Given the description of an element on the screen output the (x, y) to click on. 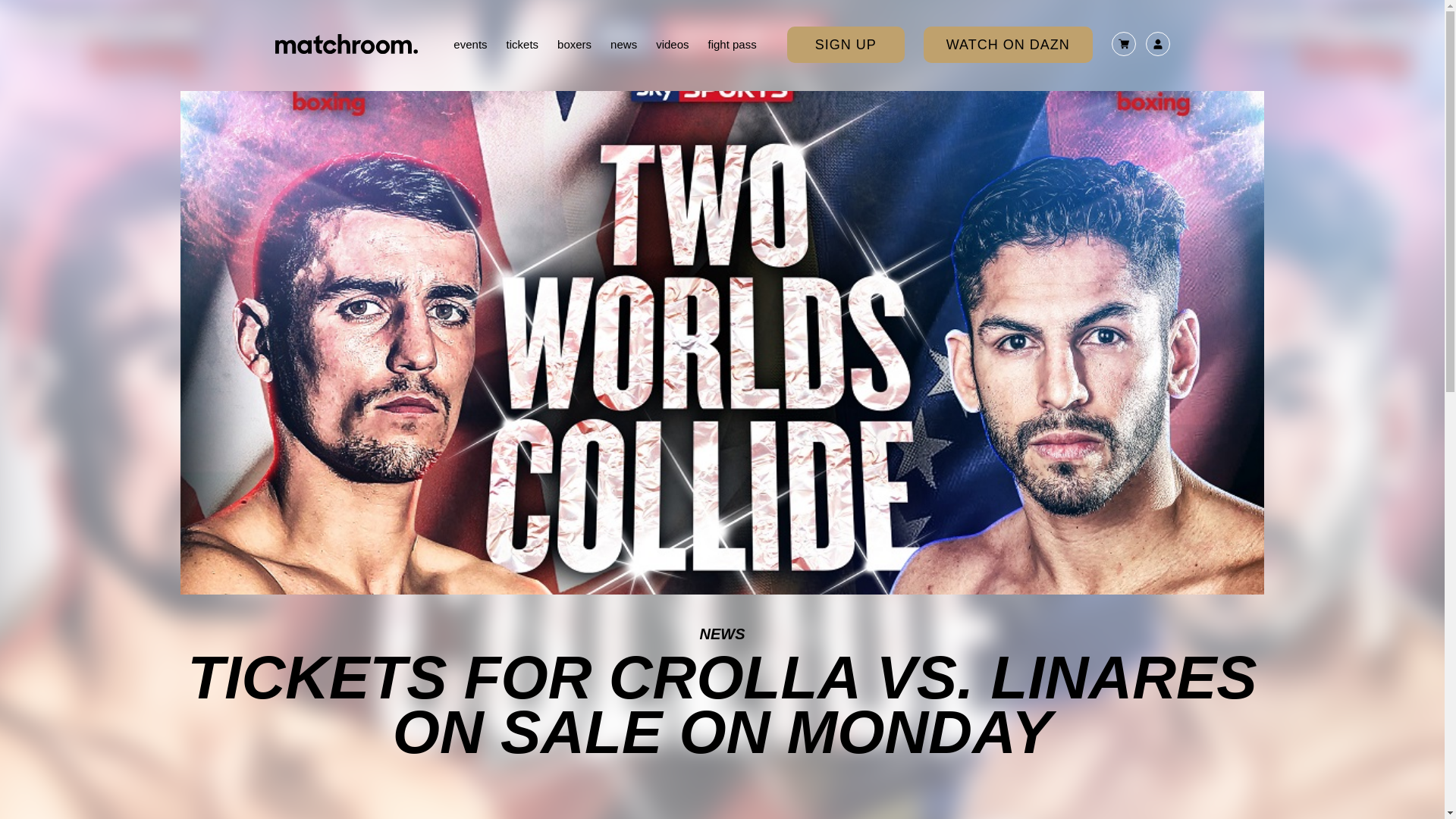
fight pass (732, 43)
boxers (574, 43)
WATCH ON DAZN (1008, 44)
events (469, 43)
SIGN UP (845, 44)
videos (672, 43)
news (623, 43)
tickets (522, 43)
